Given the description of an element on the screen output the (x, y) to click on. 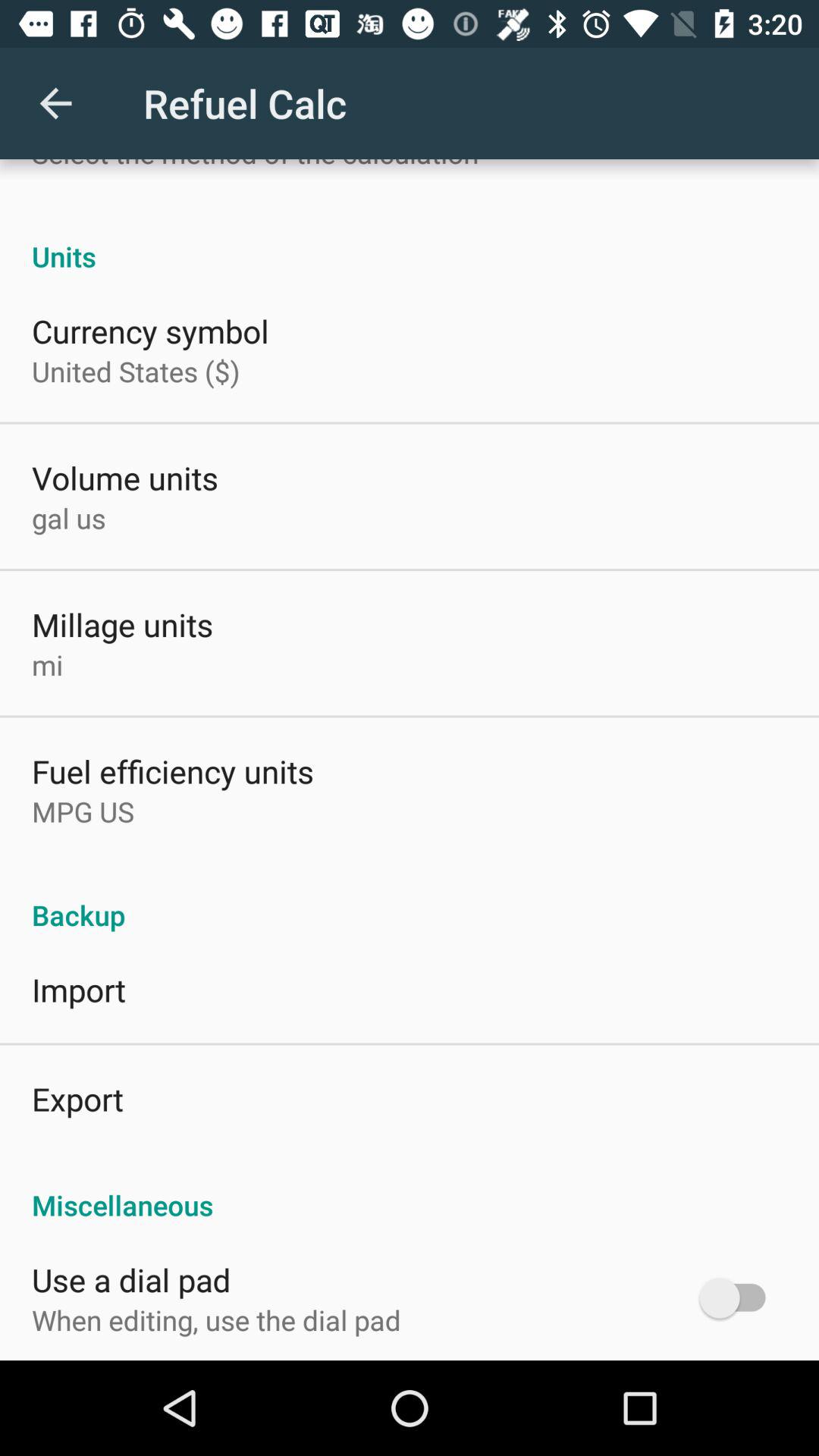
turn off the item below backup app (78, 989)
